Given the description of an element on the screen output the (x, y) to click on. 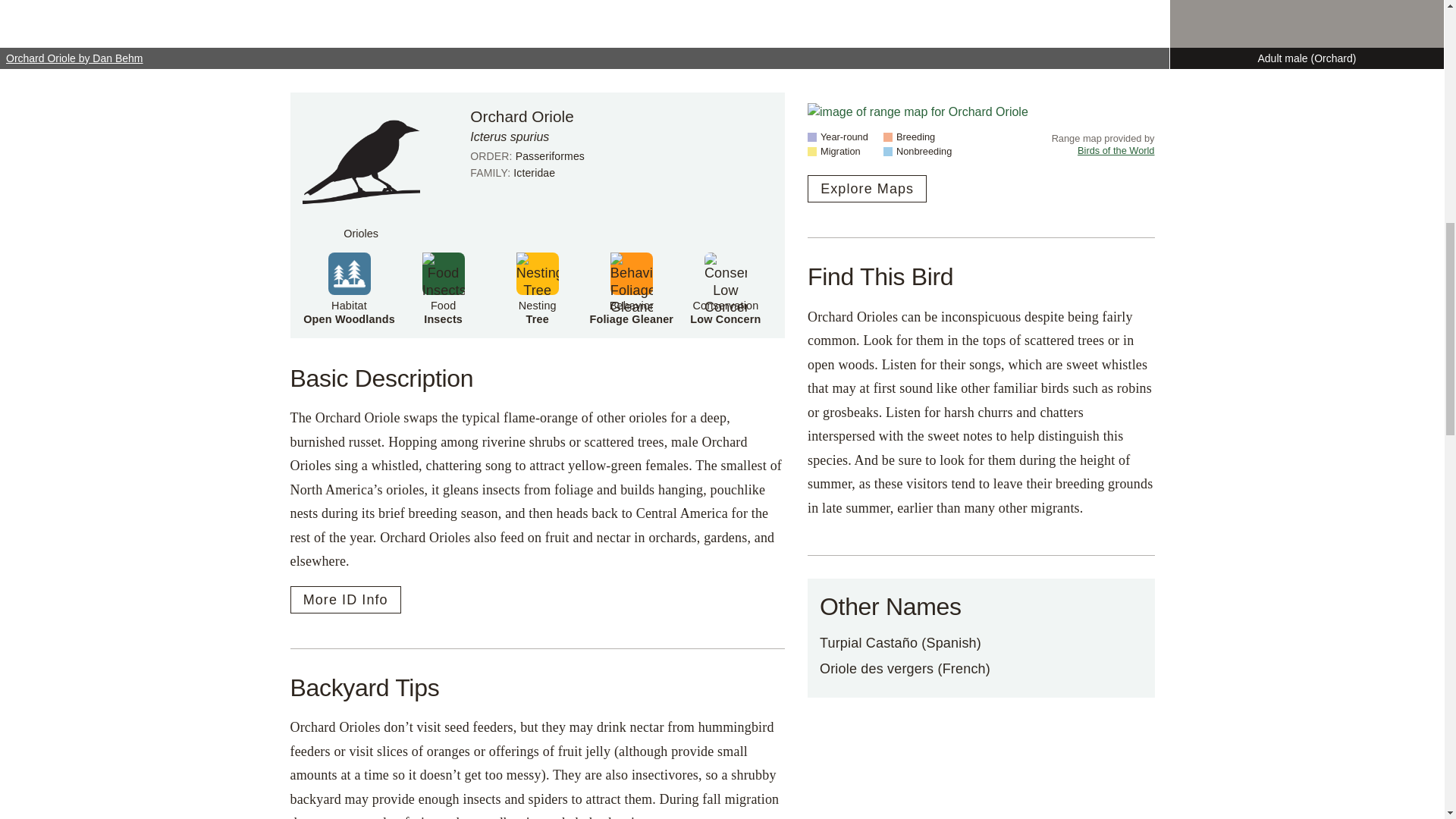
Birds of the World (1115, 150)
Explore Maps (631, 288)
More ID Info (867, 188)
Orchard Oriole by Dan Behm (348, 288)
